Given the description of an element on the screen output the (x, y) to click on. 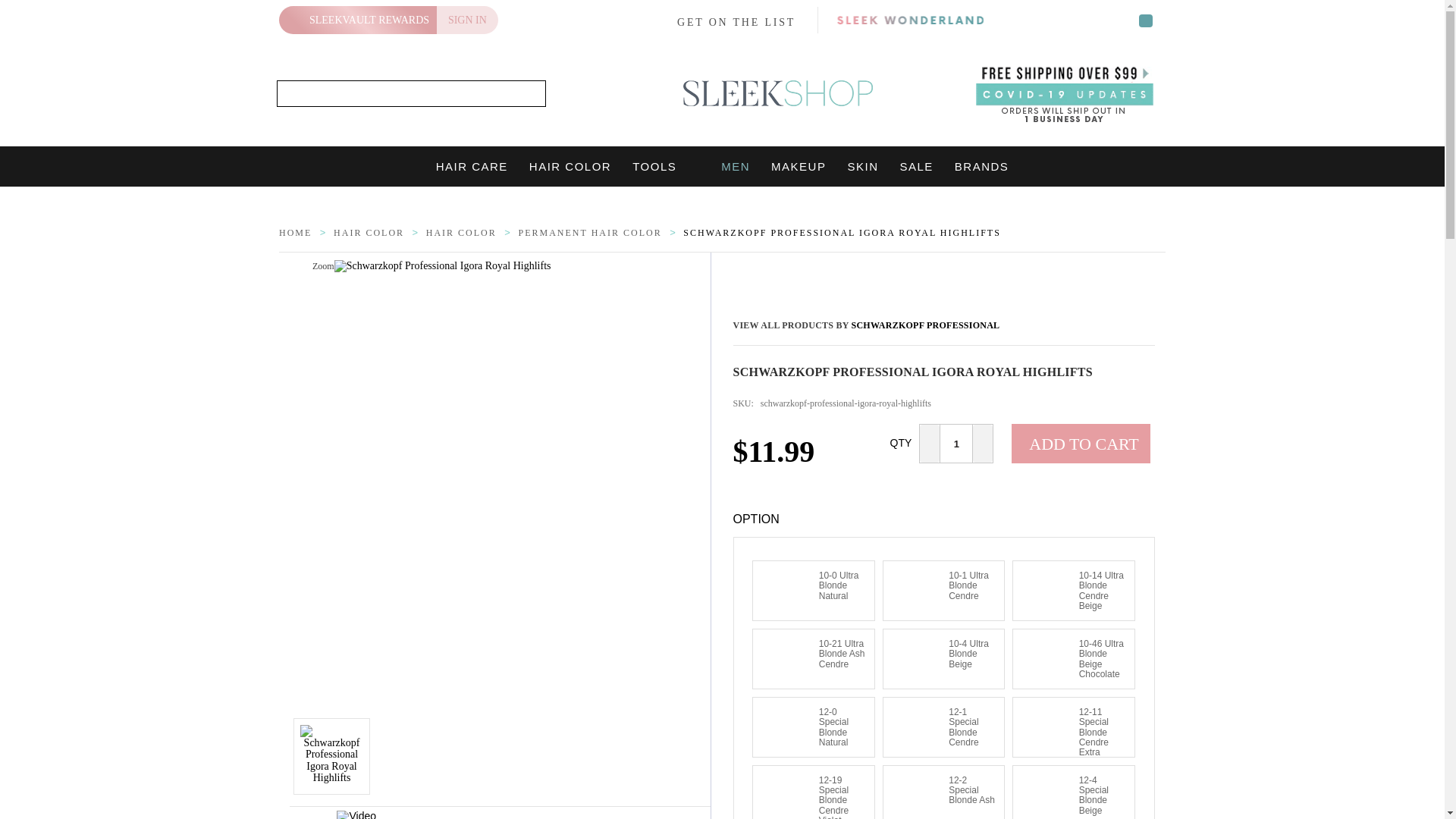
SIGN IN (466, 19)
Bulk Order (1085, 488)
sleek wonderland (910, 19)
Sign In (466, 19)
HAIR CARE (471, 166)
SLEEKVAULT REWARDS (357, 19)
